Given the description of an element on the screen output the (x, y) to click on. 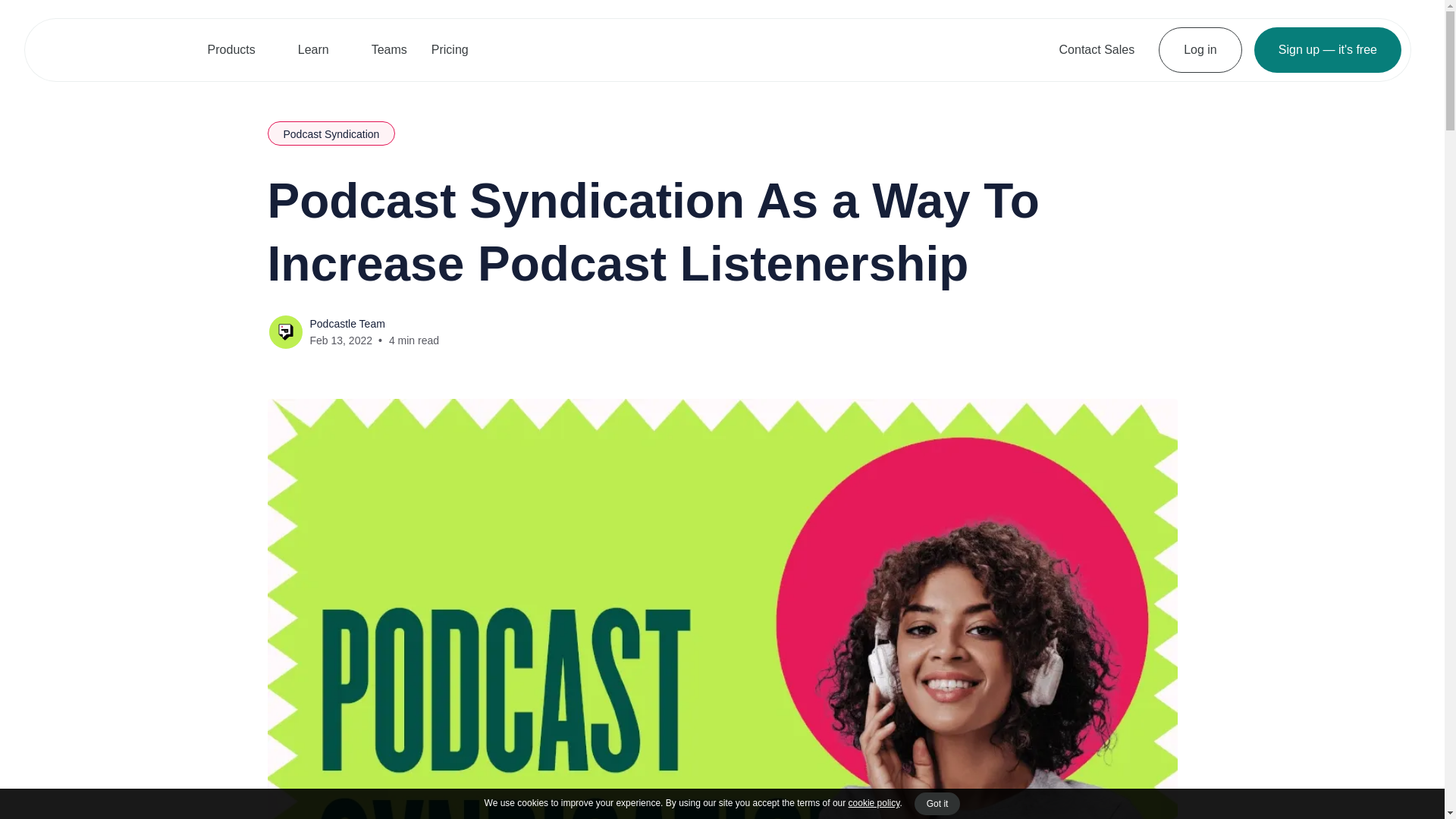
Pricing (449, 49)
Teams (389, 49)
Podcast Syndication (330, 133)
Contact Sales (1096, 49)
Podcastle Team (346, 323)
